Given the description of an element on the screen output the (x, y) to click on. 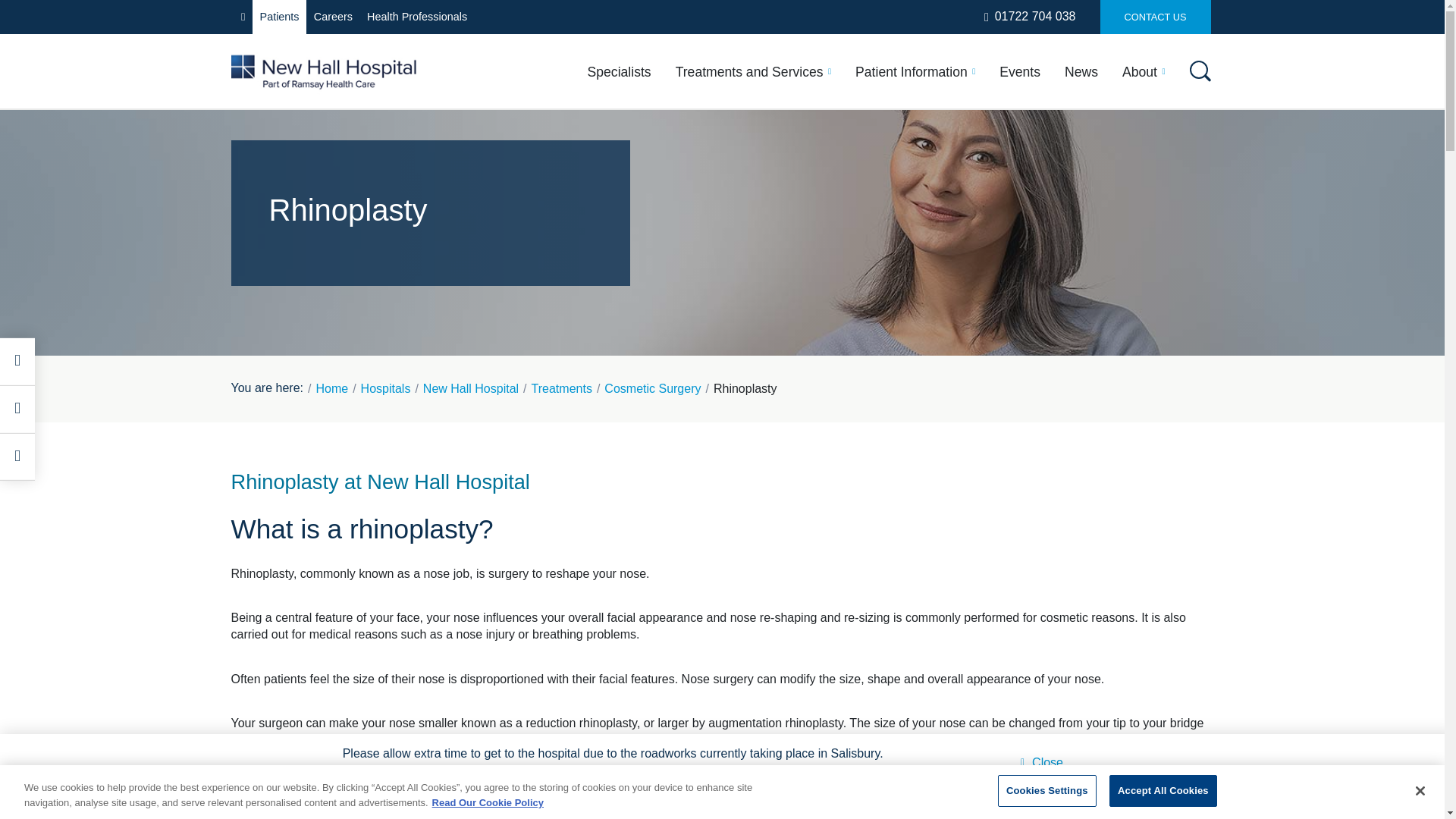
01722 704 038 (1029, 17)
Health Professionals (416, 17)
Diagnostic Services (504, 207)
General Surgery (494, 235)
Logo (323, 71)
CONTACT US (1154, 17)
Careers (332, 17)
Back Surgery (835, 185)
Spinal Services (317, 347)
Endoscopy (1042, 342)
Carpal Tunnel (836, 217)
Physiotherapy (313, 320)
Prostate Surgery (691, 346)
Ear Nose and Throat (333, 235)
Private GP Service (501, 320)
